Given the description of an element on the screen output the (x, y) to click on. 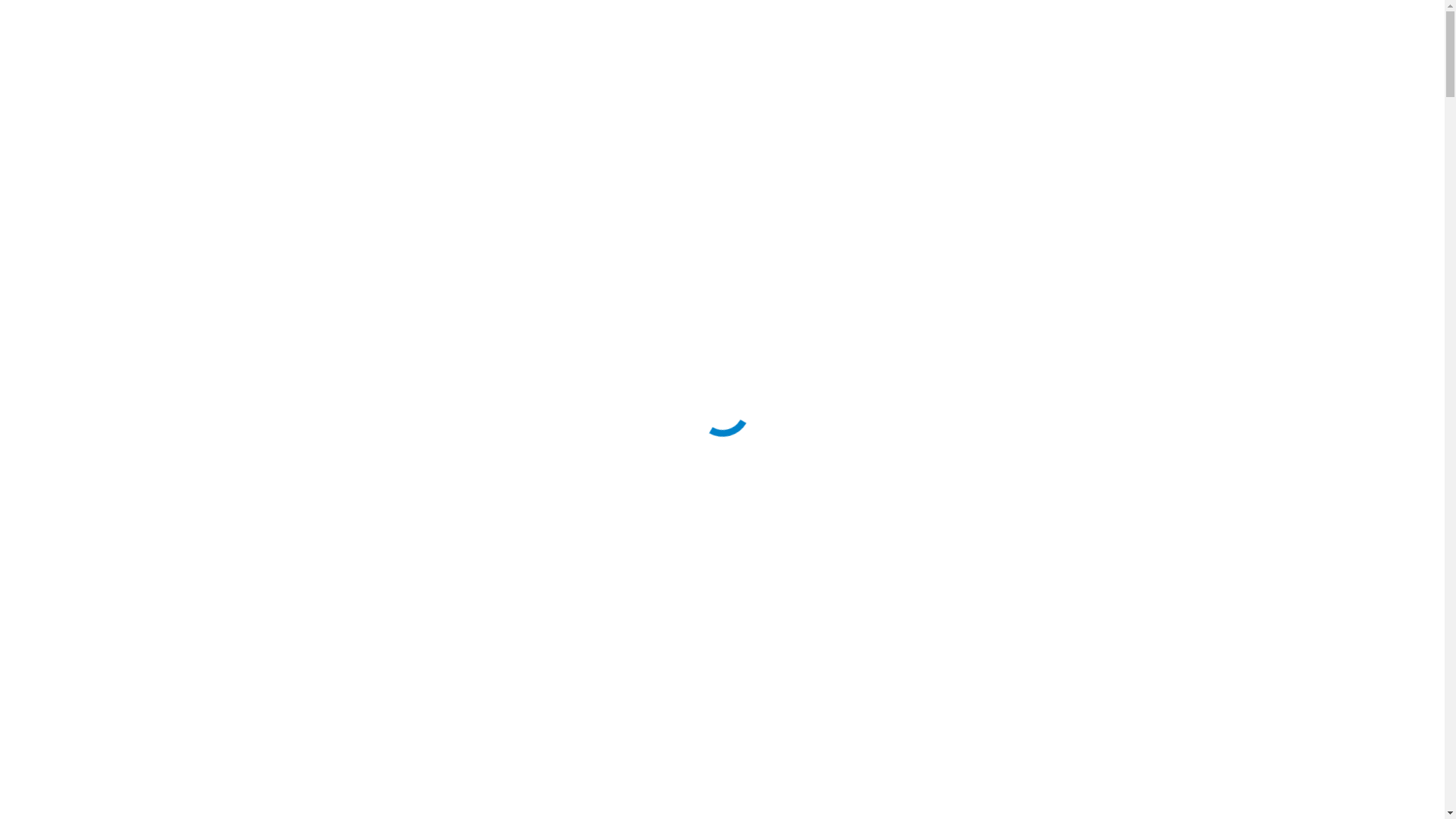
Facebook page opens in new window Element type: hover (1370, 55)
Home Element type: text (466, 55)
News Element type: text (802, 55)
YouTube page opens in new window Element type: hover (1415, 55)
Products Element type: text (629, 55)
Go! Element type: text (31, 16)
Store Finder Element type: text (887, 55)
About Us Element type: text (543, 55)
Practice Tools Element type: text (999, 55)
Instagram page opens in new window Element type: hover (1392, 55)
Search Element type: text (1320, 56)
